Given the description of an element on the screen output the (x, y) to click on. 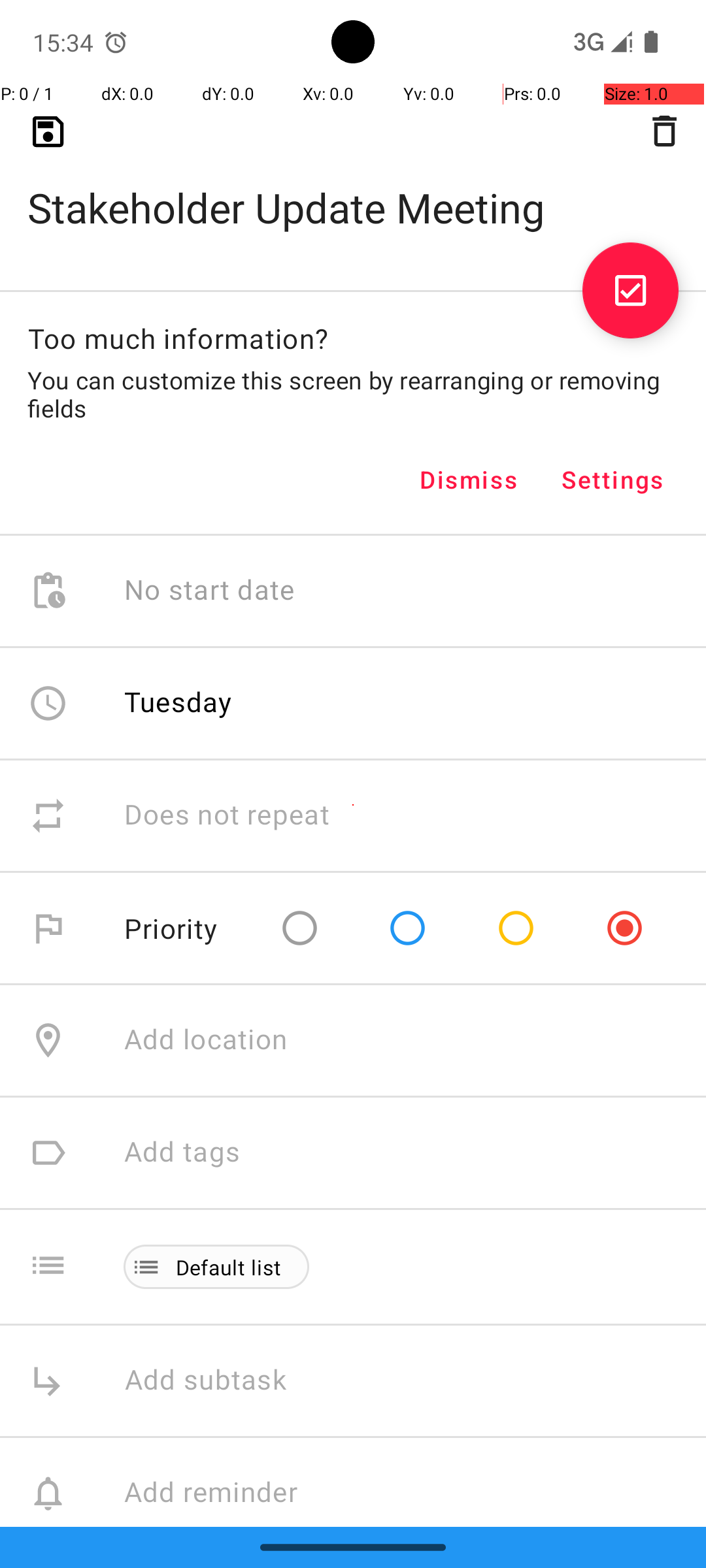
Stakeholder Update Meeting Element type: android.widget.EditText (353, 186)
